Given the description of an element on the screen output the (x, y) to click on. 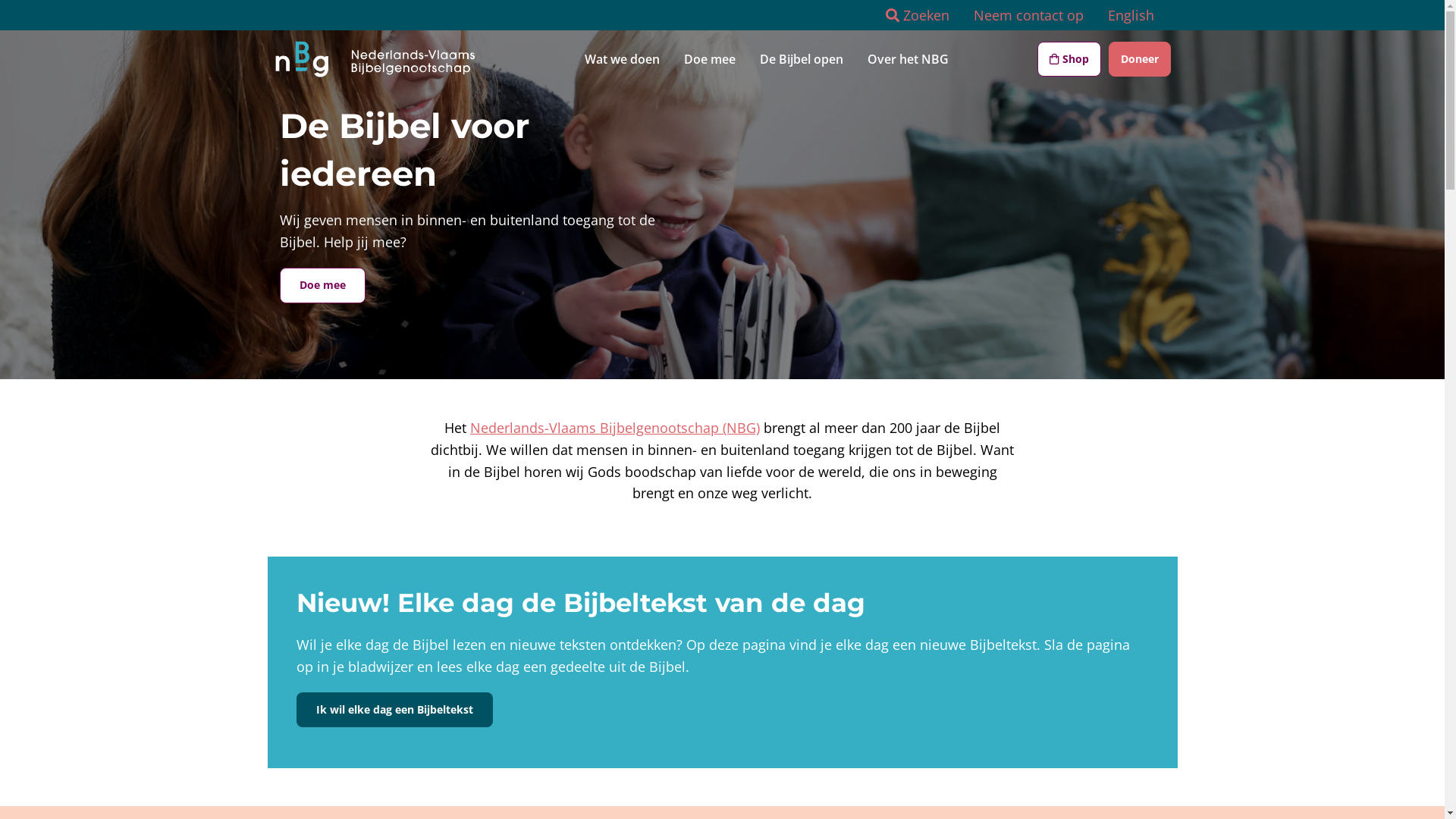
Doe mee Element type: text (321, 284)
De Bijbel open Element type: text (801, 58)
English Element type: text (1130, 15)
Shop Element type: text (1069, 58)
Zoeken Element type: text (917, 15)
Neem contact op Element type: text (1028, 15)
Wat we doen Element type: text (621, 58)
Ik wil elke dag een Bijbeltekst Element type: text (393, 709)
Over het NBG Element type: text (907, 58)
Doneer Element type: text (1139, 58)
Nederlands-Vlaams Bijbelgenootschap (NBG) Element type: text (614, 427)
Doe mee Element type: text (709, 58)
